Given the description of an element on the screen output the (x, y) to click on. 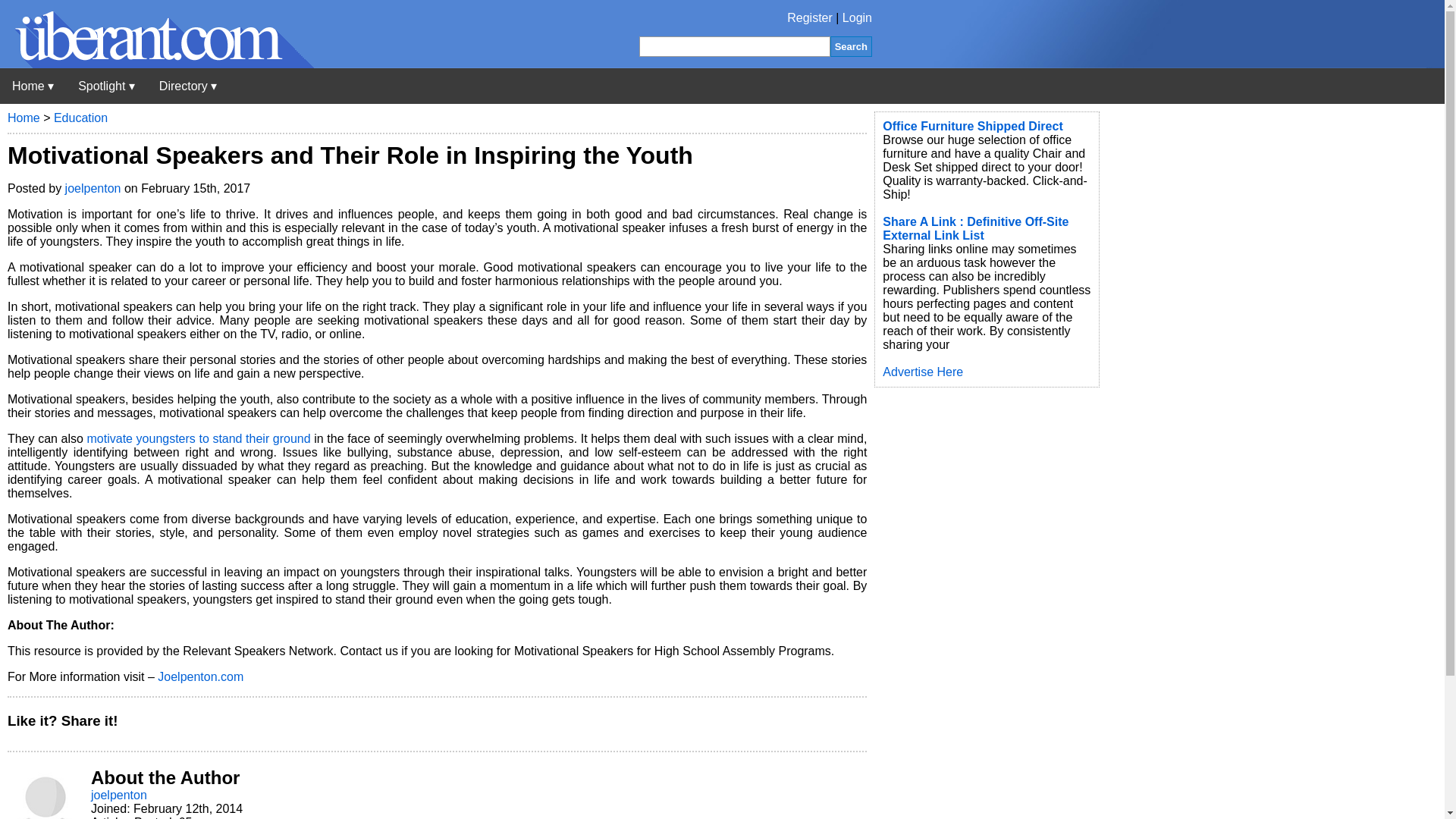
Search (850, 46)
Login (857, 17)
Register (809, 17)
Uberant (32, 85)
Uberant (157, 63)
Search (850, 46)
